Given the description of an element on the screen output the (x, y) to click on. 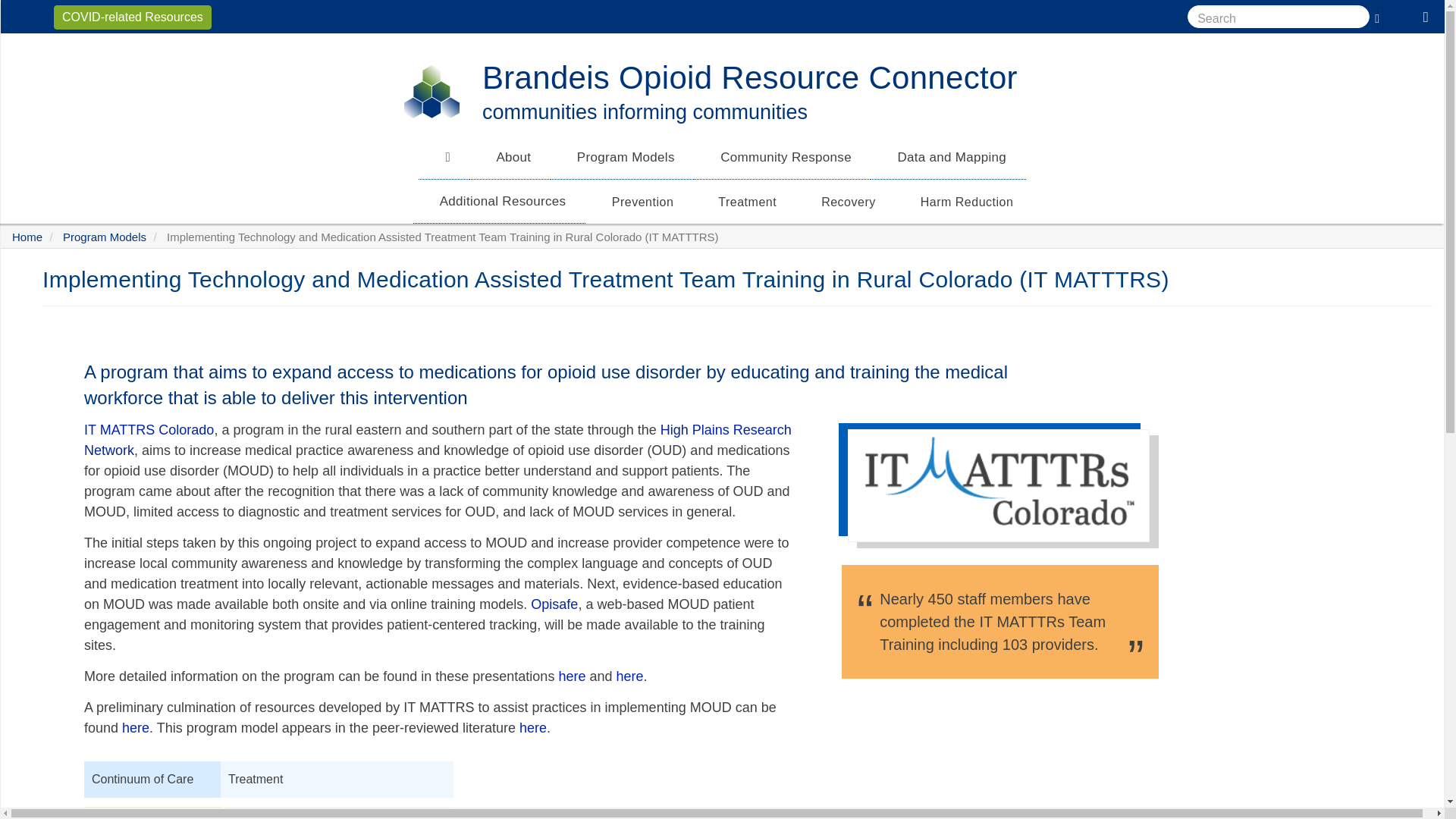
Program Models (622, 157)
Brandeis Opioid Resource Connector (749, 76)
Data and Mapping (947, 157)
Home (432, 91)
COVID-related Resources (132, 16)
communities informing communities (644, 111)
Community Response (782, 157)
Additional Resources (499, 200)
Prevention (639, 201)
